Given the description of an element on the screen output the (x, y) to click on. 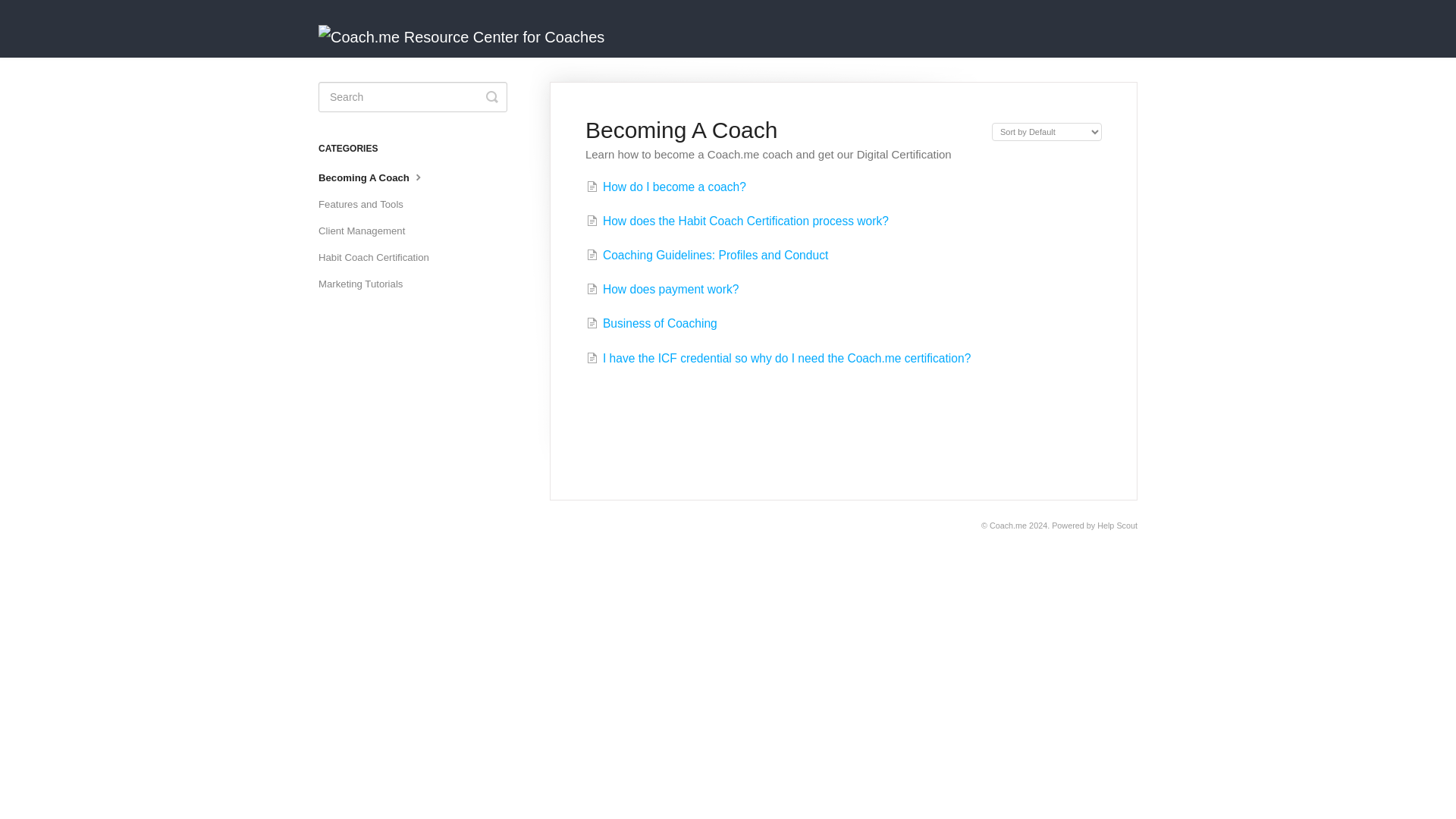
Business of Coaching (651, 323)
Habit Coach Certification (379, 257)
Help Scout (1117, 524)
search-query (412, 96)
Coach.me (1008, 524)
Becoming A Coach (378, 177)
Coaching Guidelines: Profiles and Conduct (707, 254)
sort-by (1046, 131)
How do I become a coach? (665, 186)
How does the Habit Coach Certification process work? (737, 220)
Features and Tools (366, 204)
Client Management (367, 231)
Toggle Search (491, 96)
Marketing Tutorials (365, 283)
